Given the description of an element on the screen output the (x, y) to click on. 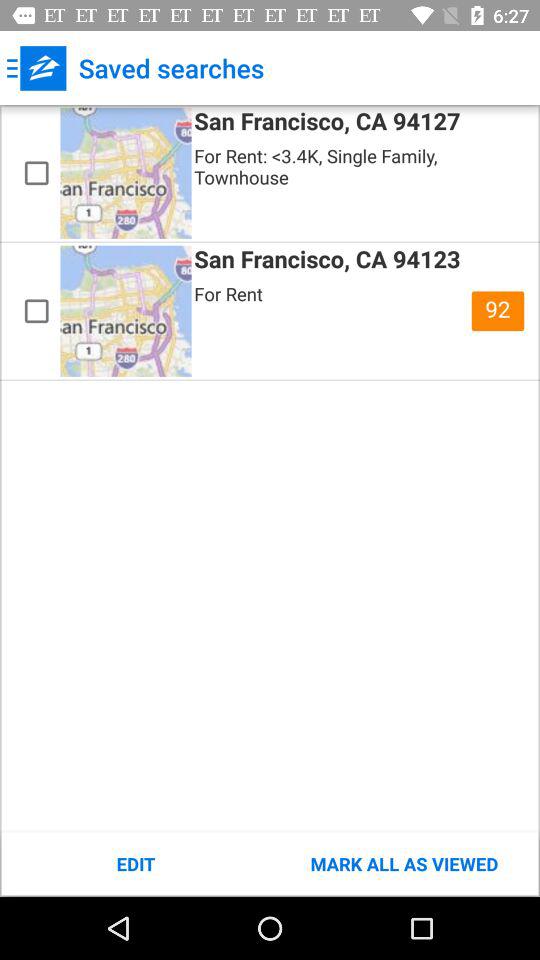
click edit item (135, 863)
